Given the description of an element on the screen output the (x, y) to click on. 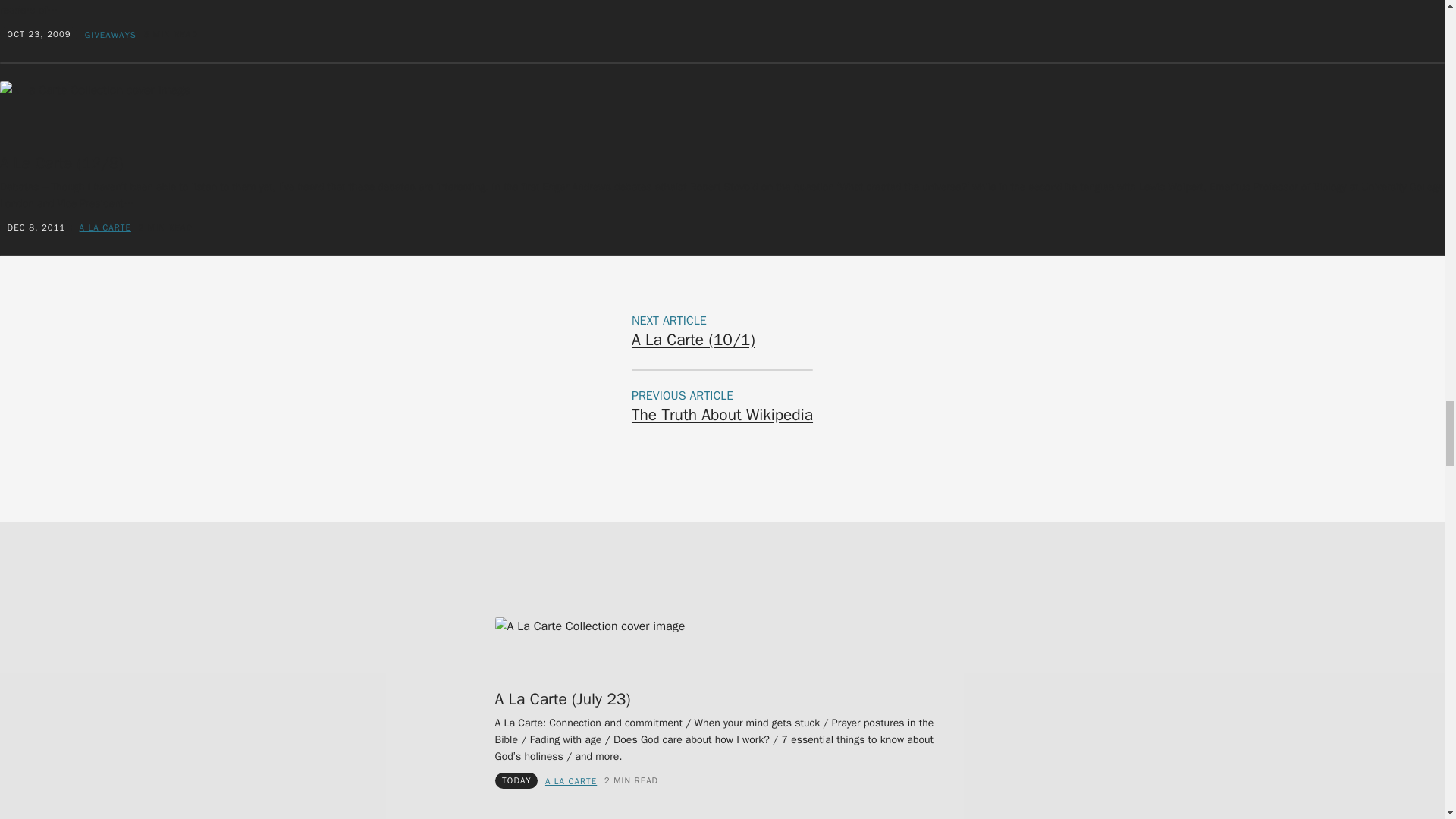
Dec 8, 2011 at 8:18 am (36, 226)
194 words (165, 227)
Jul 23, 2024 at 12:01 am (516, 779)
261 words (631, 780)
367 words (171, 34)
Oct 23, 2009 at 11:00 am (39, 33)
